Given the description of an element on the screen output the (x, y) to click on. 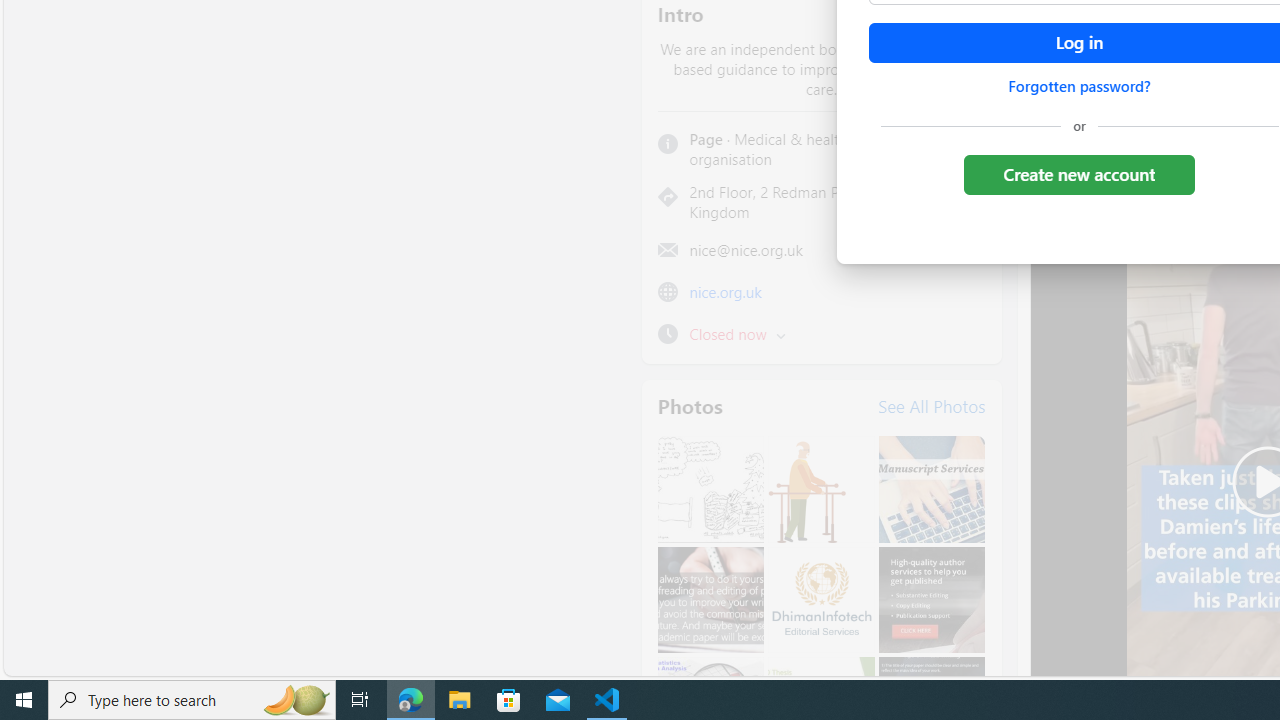
Create new account (1078, 174)
